Given the description of an element on the screen output the (x, y) to click on. 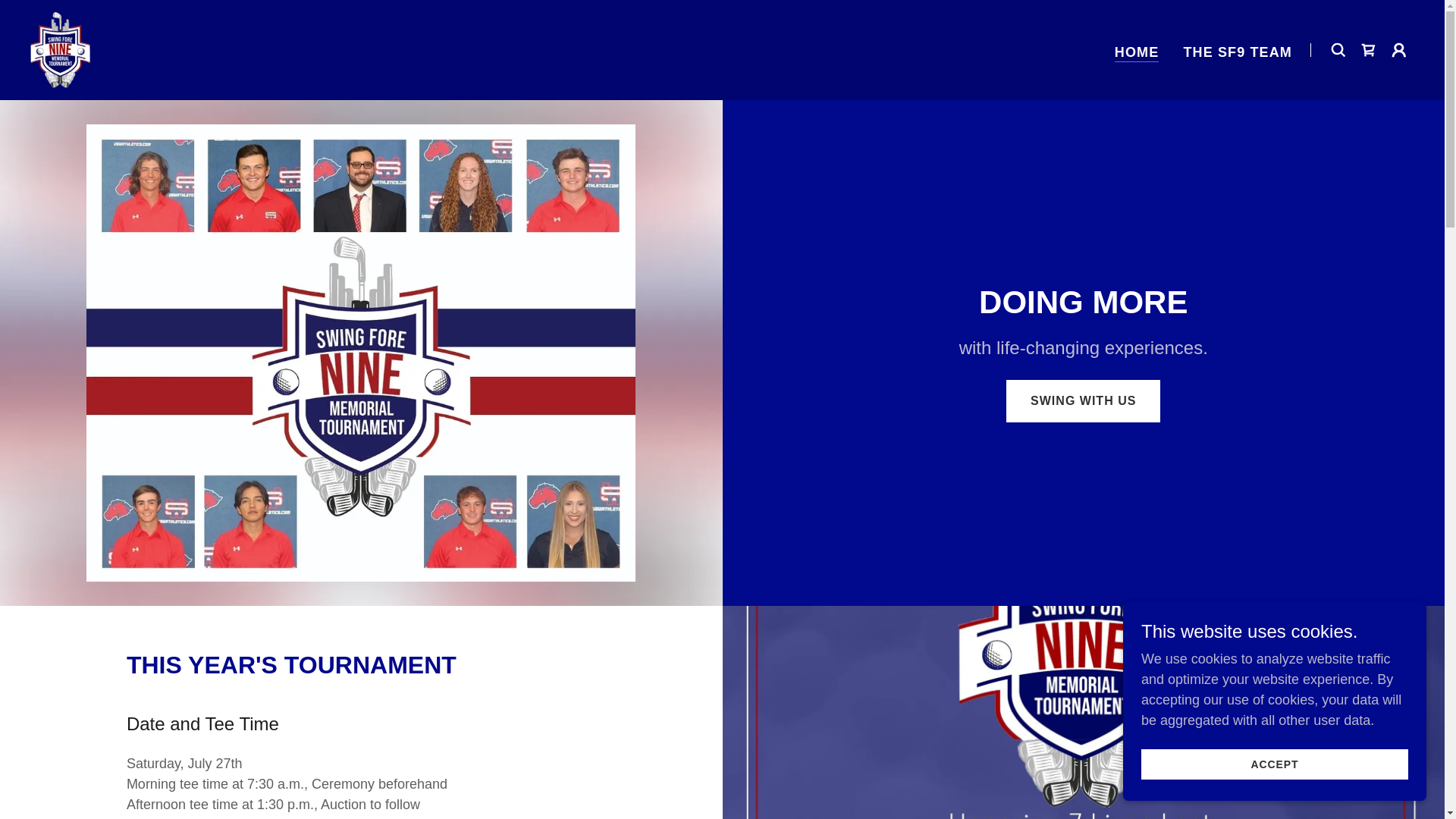
SWING WITH US (1083, 401)
THE SF9 TEAM (1237, 51)
ACCEPT (1274, 764)
HOME (1136, 51)
Swing Fore Nine (60, 48)
